Given the description of an element on the screen output the (x, y) to click on. 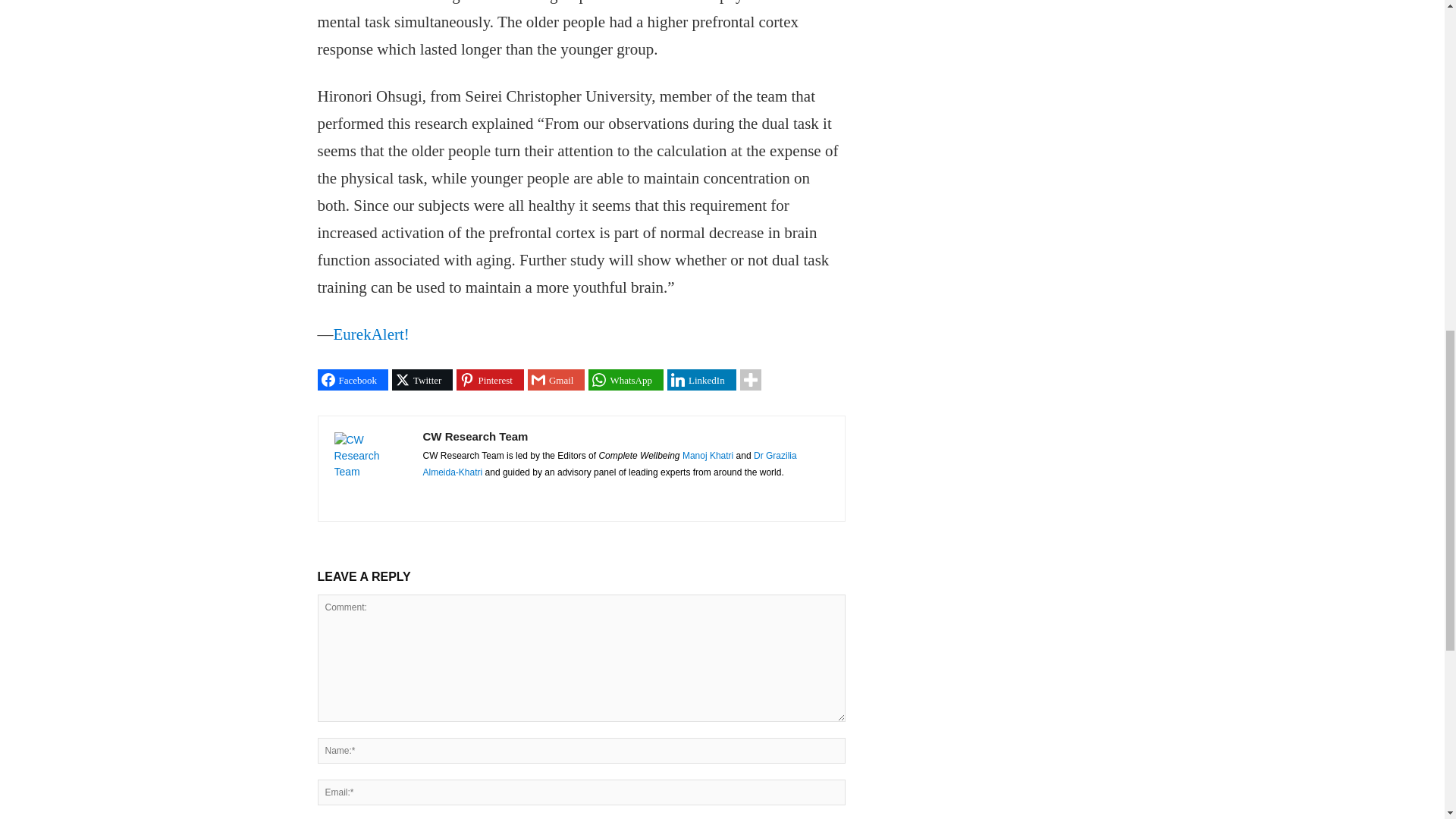
Share on Facebook (352, 379)
Share on Pinterest (490, 379)
Share on Twitter (421, 379)
